Given the description of an element on the screen output the (x, y) to click on. 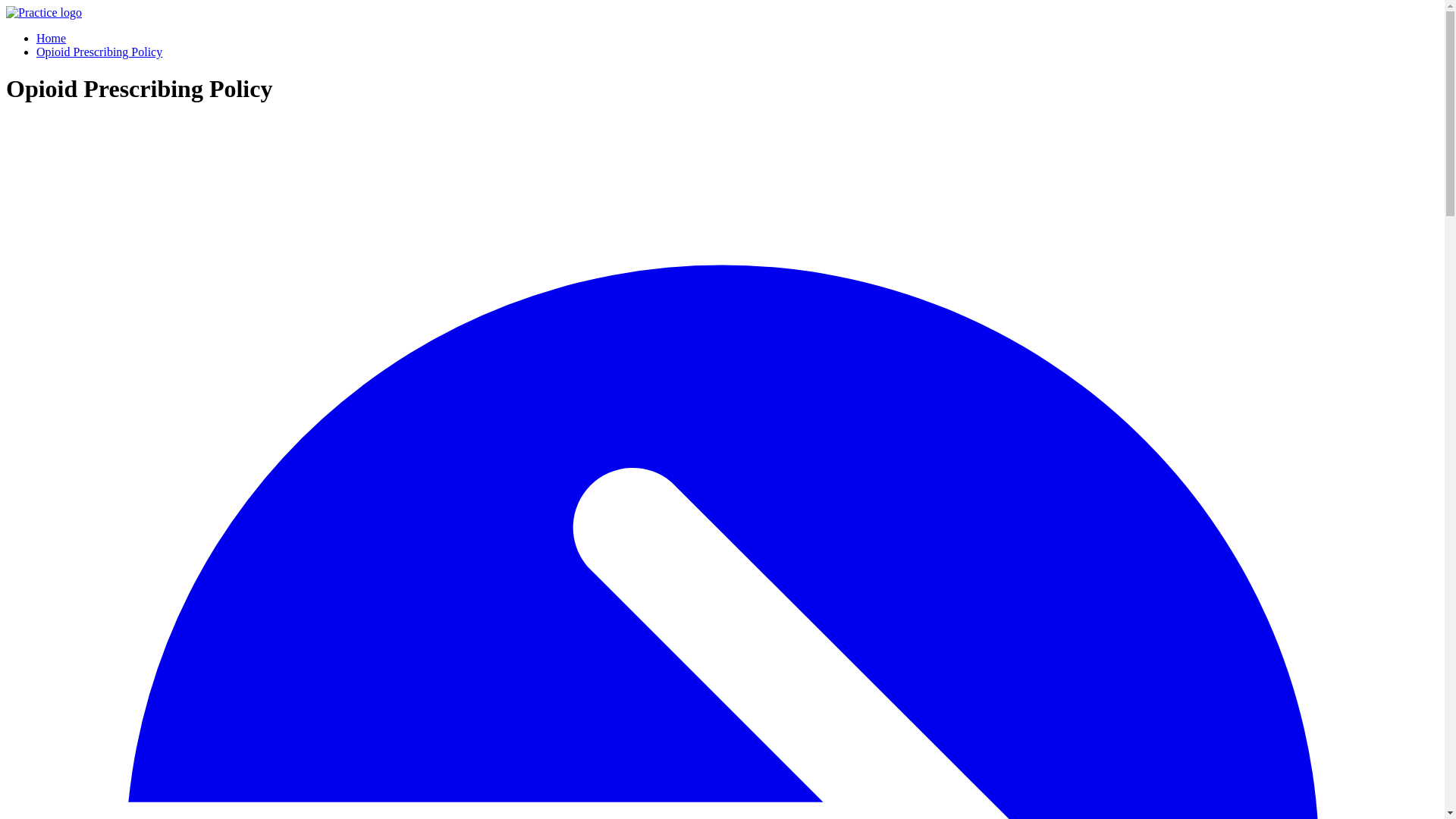
Home (50, 38)
Opioid Prescribing Policy (98, 51)
